Given the description of an element on the screen output the (x, y) to click on. 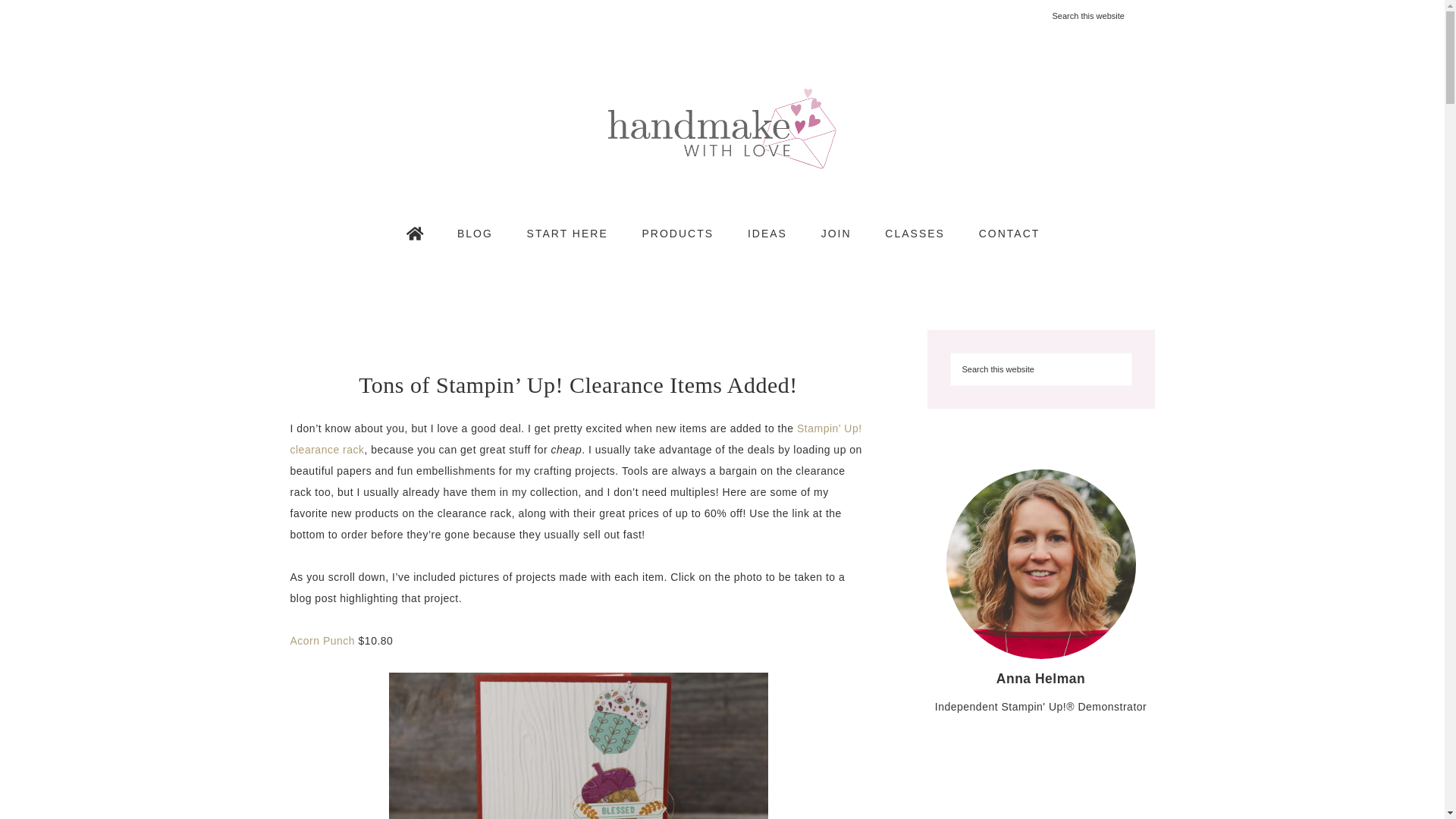
PRODUCTS (678, 232)
START HERE (567, 232)
HANDMAKE WITH LOVE (722, 128)
BLOG (475, 232)
IDEAS (767, 232)
